Given the description of an element on the screen output the (x, y) to click on. 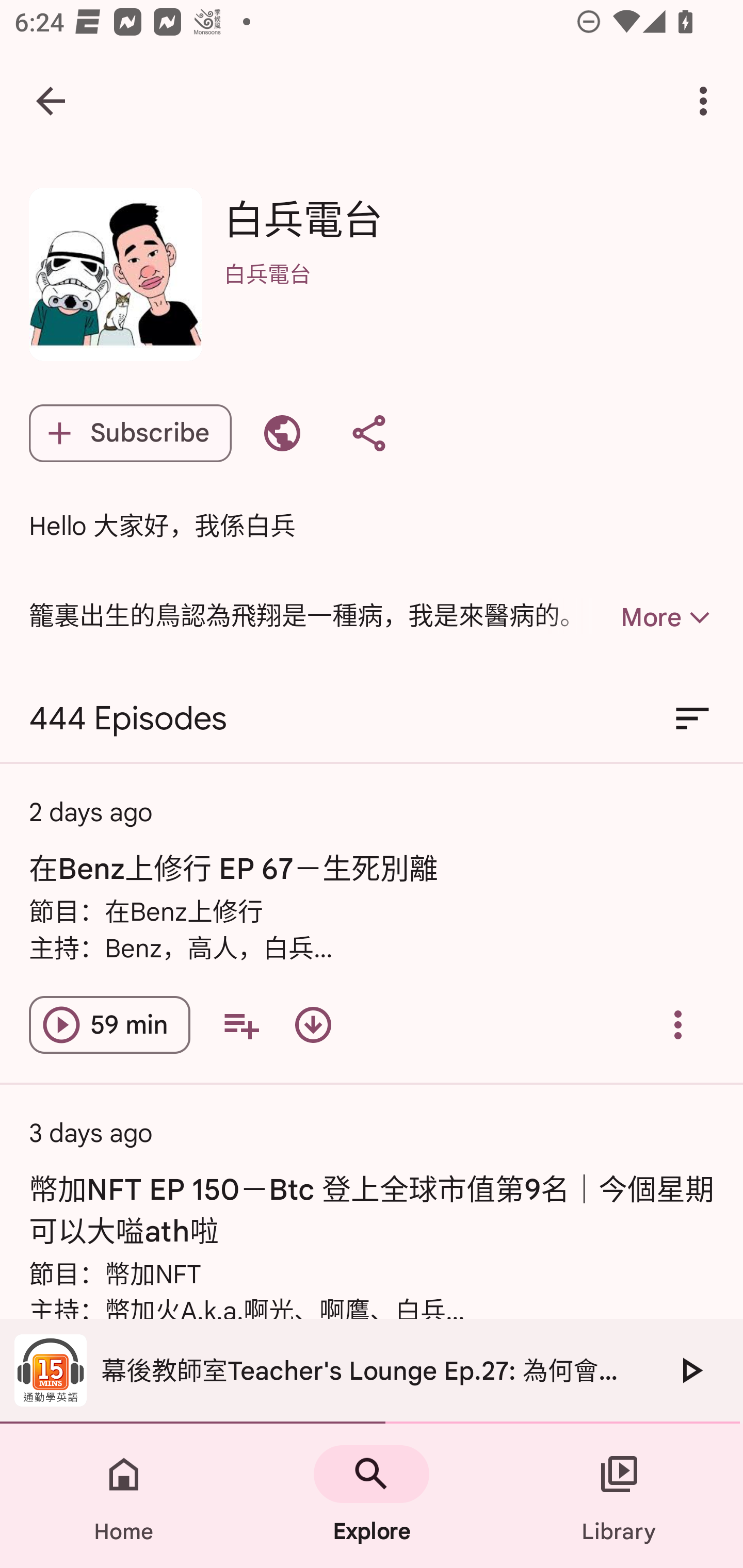
Navigate up (50, 101)
More options (706, 101)
白兵電台 (468, 300)
Subscribe (129, 433)
Visit website (282, 433)
Share (368, 433)
More (631, 616)
Sort (692, 718)
Play episode 在Benz上修行 EP 67－生死別離 59 min (109, 1024)
Add to your queue (241, 1024)
Download episode (313, 1024)
Overflow menu (677, 1024)
Play (690, 1370)
Home (123, 1495)
Library (619, 1495)
